Given the description of an element on the screen output the (x, y) to click on. 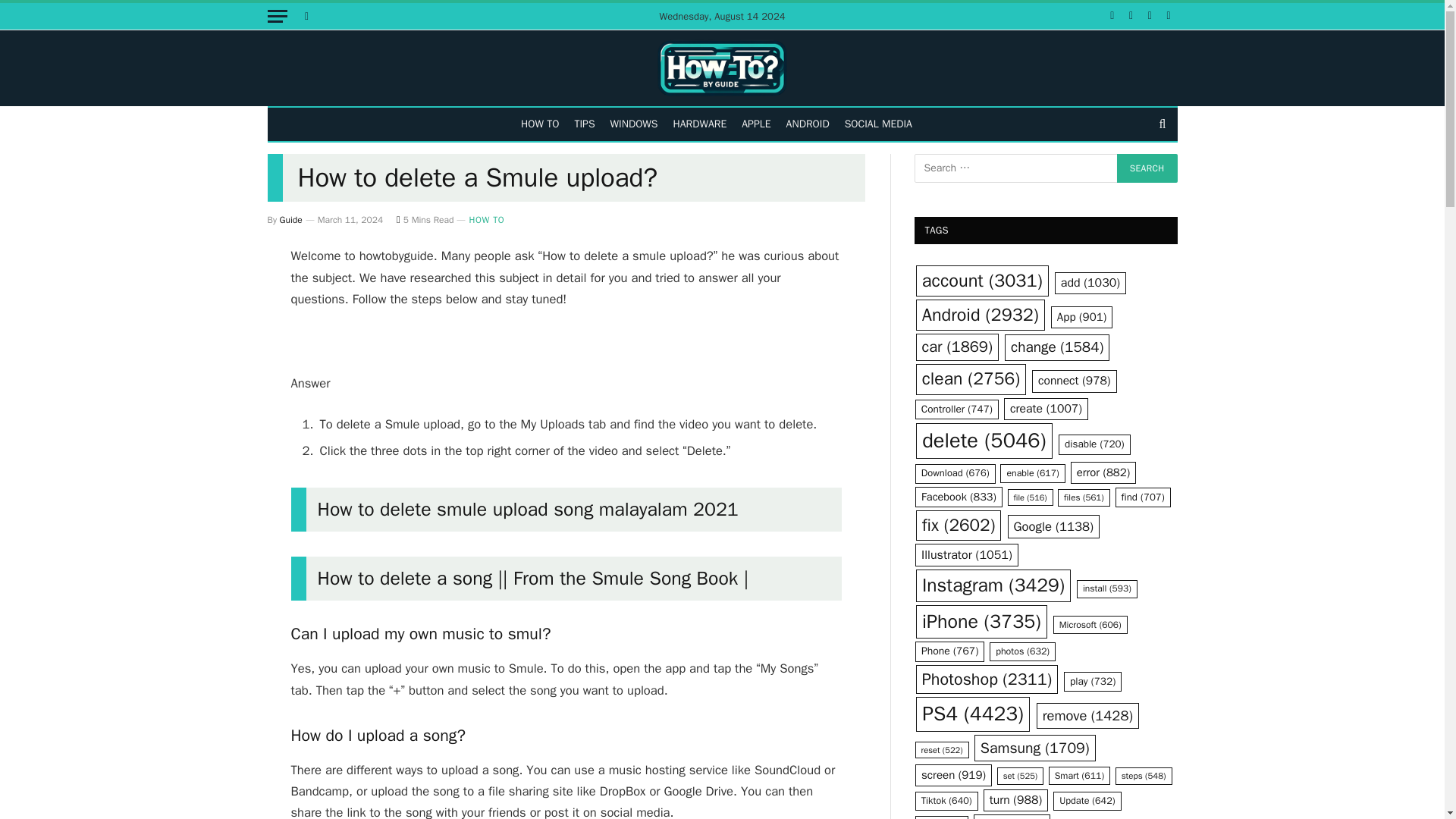
Search (1146, 167)
HOW TO (539, 123)
Switch to Dark Design - easier on eyes. (305, 15)
WINDOWS (633, 123)
Guide (290, 219)
Posts by Guide (290, 219)
HOW TO (485, 219)
APPLE (755, 123)
SOCIAL MEDIA (878, 123)
TIPS (584, 123)
